Given the description of an element on the screen output the (x, y) to click on. 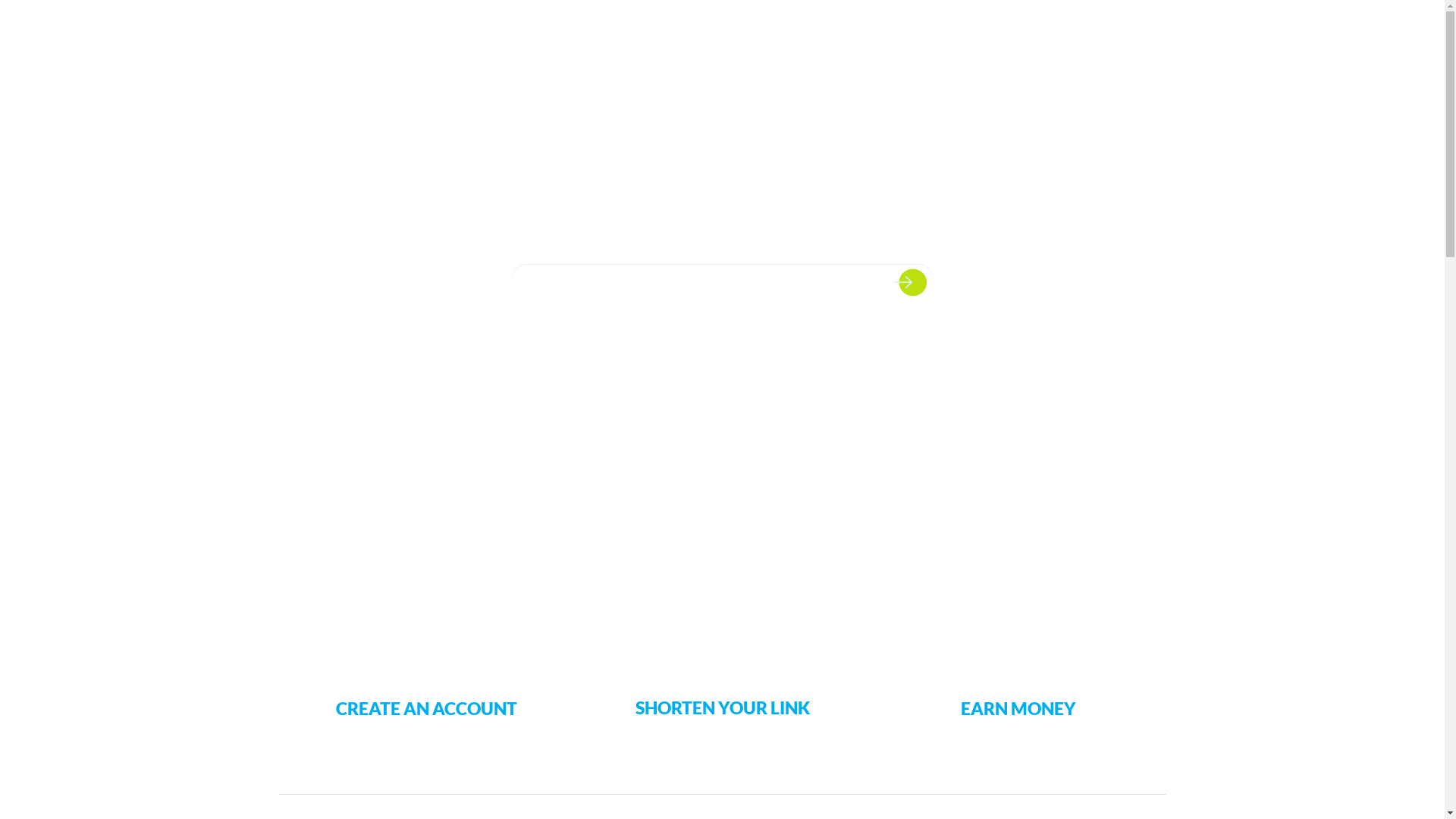
HOME Element type: text (880, 45)
BLOG Element type: text (1037, 45)
PUBLISHER RATES Element type: text (960, 45)
AD JUST - SHORT LINK Element type: text (395, 45)
LOGIN Element type: text (1082, 45)
SIGN UP Element type: text (1136, 45)
